Given the description of an element on the screen output the (x, y) to click on. 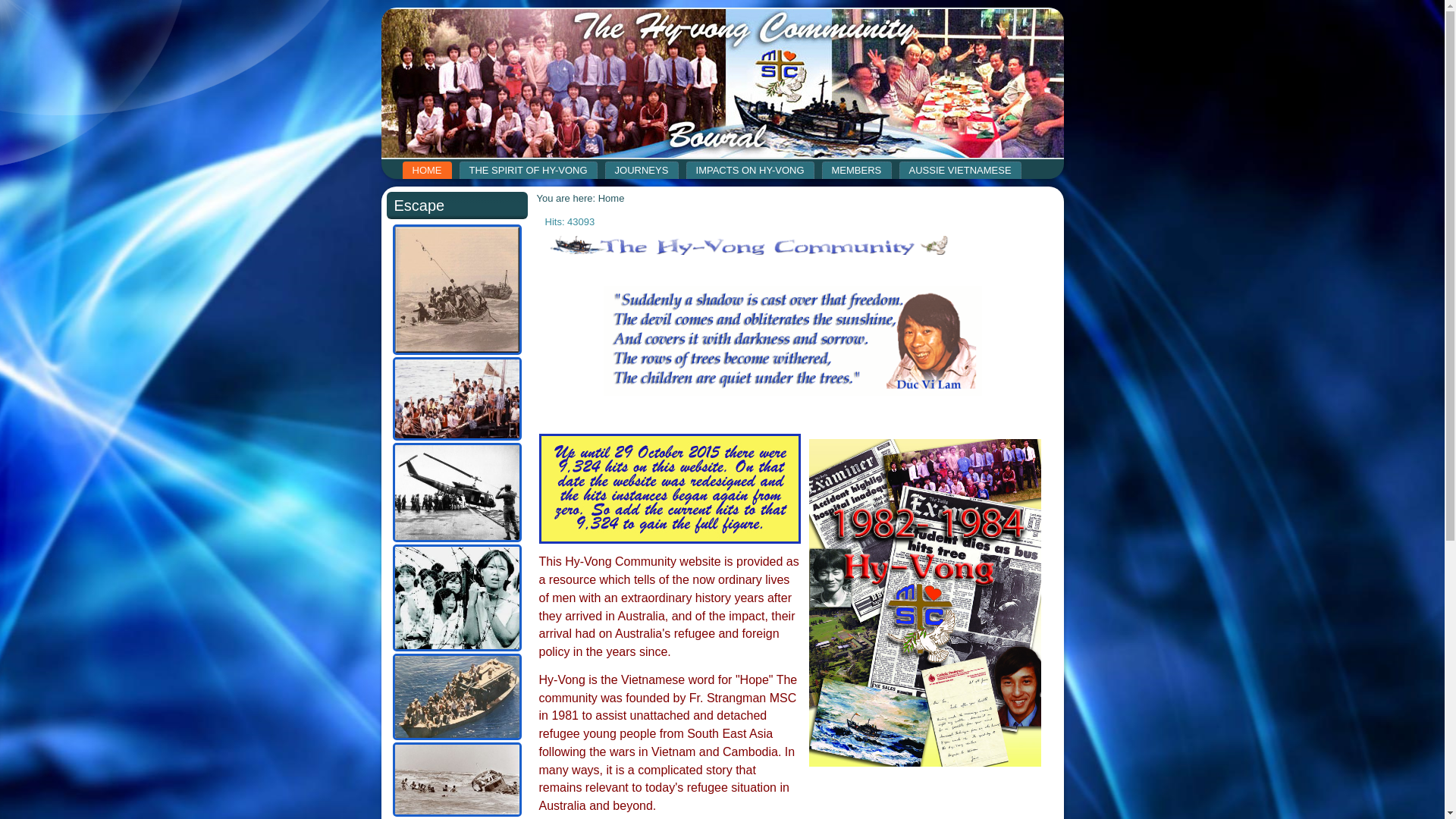
JOURNEYS Element type: text (641, 169)
THE SPIRIT OF HY-VONG Element type: text (528, 169)
HOME Element type: text (426, 169)
MEMBERS Element type: text (856, 169)
IMPACTS ON HY-VONG Element type: text (750, 169)
AUSSIE VIETNAMESE Element type: text (960, 169)
